Given the description of an element on the screen output the (x, y) to click on. 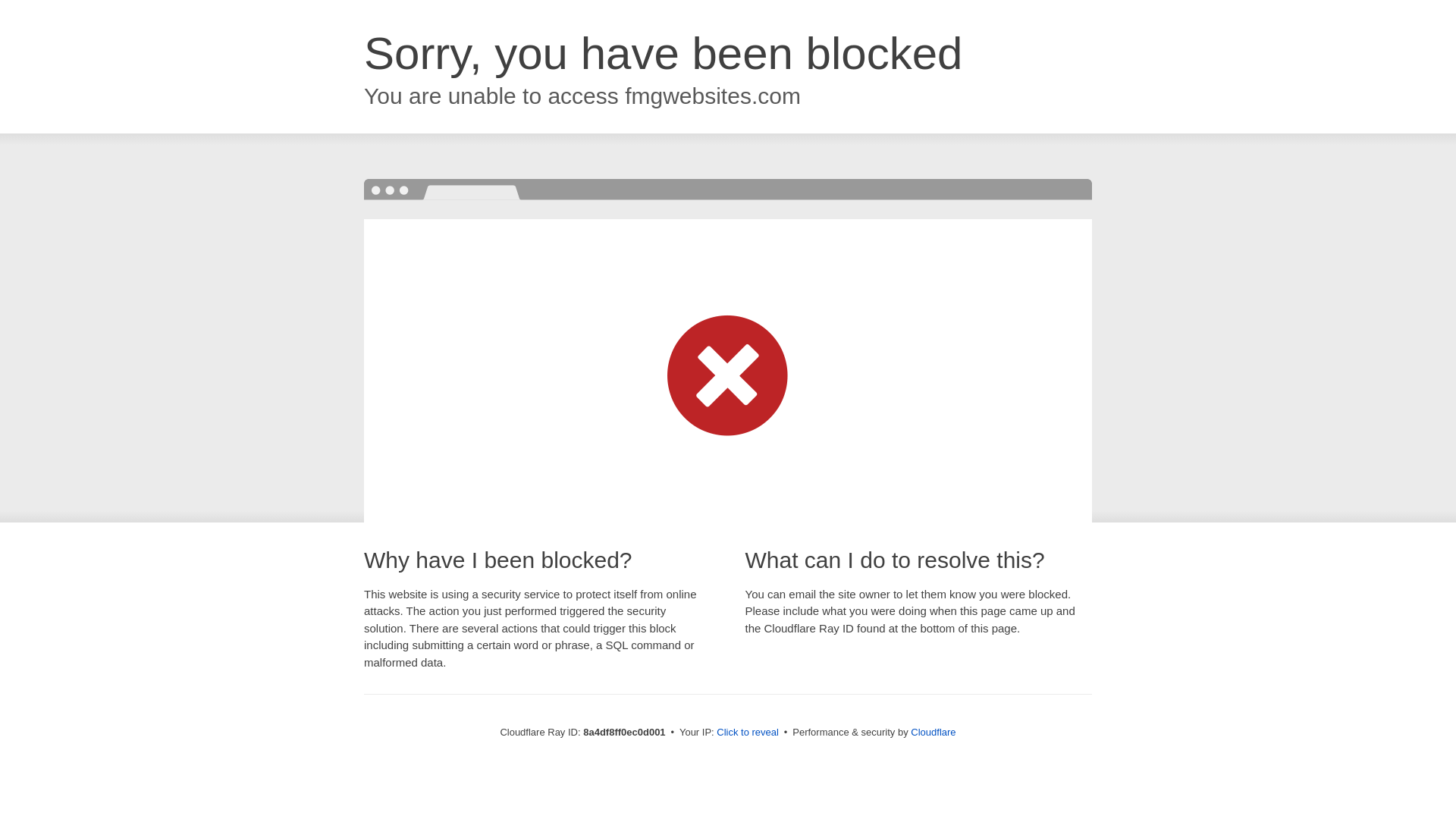
Cloudflare (933, 731)
Click to reveal (747, 732)
